Given the description of an element on the screen output the (x, y) to click on. 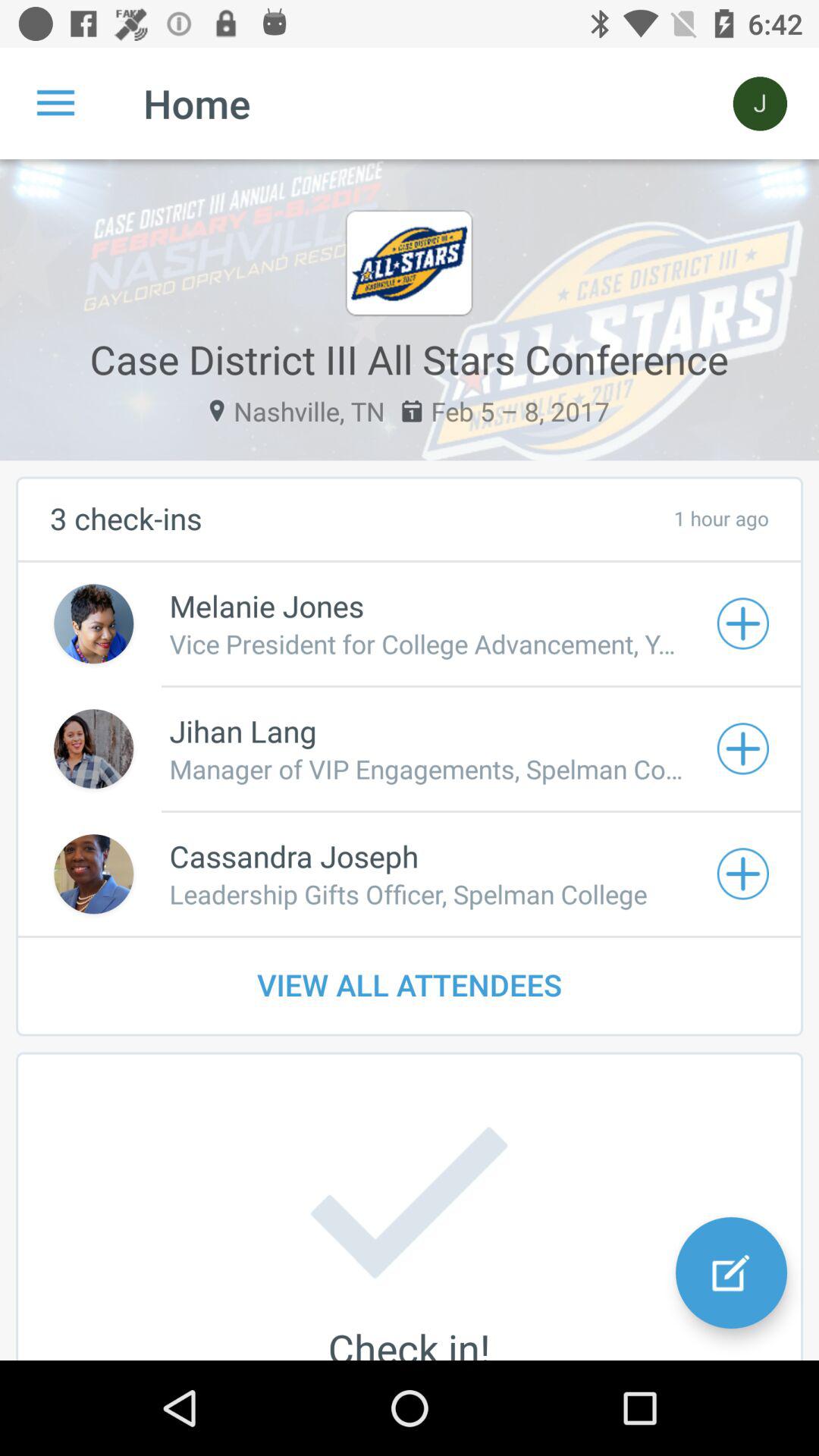
open the icon to the left of home icon (55, 103)
